Given the description of an element on the screen output the (x, y) to click on. 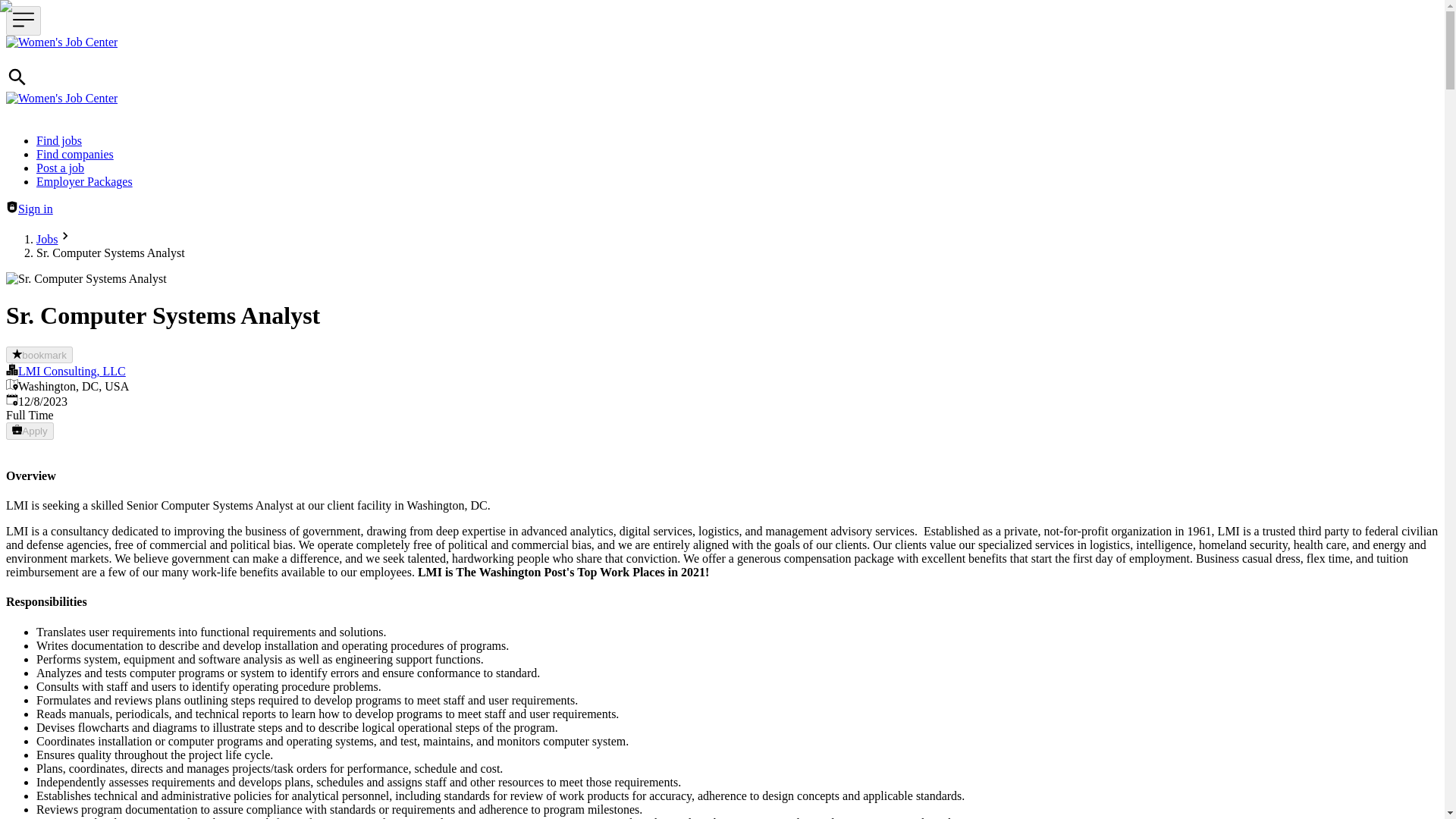
bookmark (38, 354)
Menu (22, 20)
Apply (29, 431)
Apply (29, 430)
bookmark (38, 354)
Apply (29, 430)
location (11, 384)
Sr. Computer Systems Analyst (86, 278)
Published (11, 399)
Employer Packages (84, 181)
Post a job (60, 167)
Search (17, 83)
company (11, 369)
LMI Consulting, LLC (71, 370)
Find jobs (58, 140)
